Given the description of an element on the screen output the (x, y) to click on. 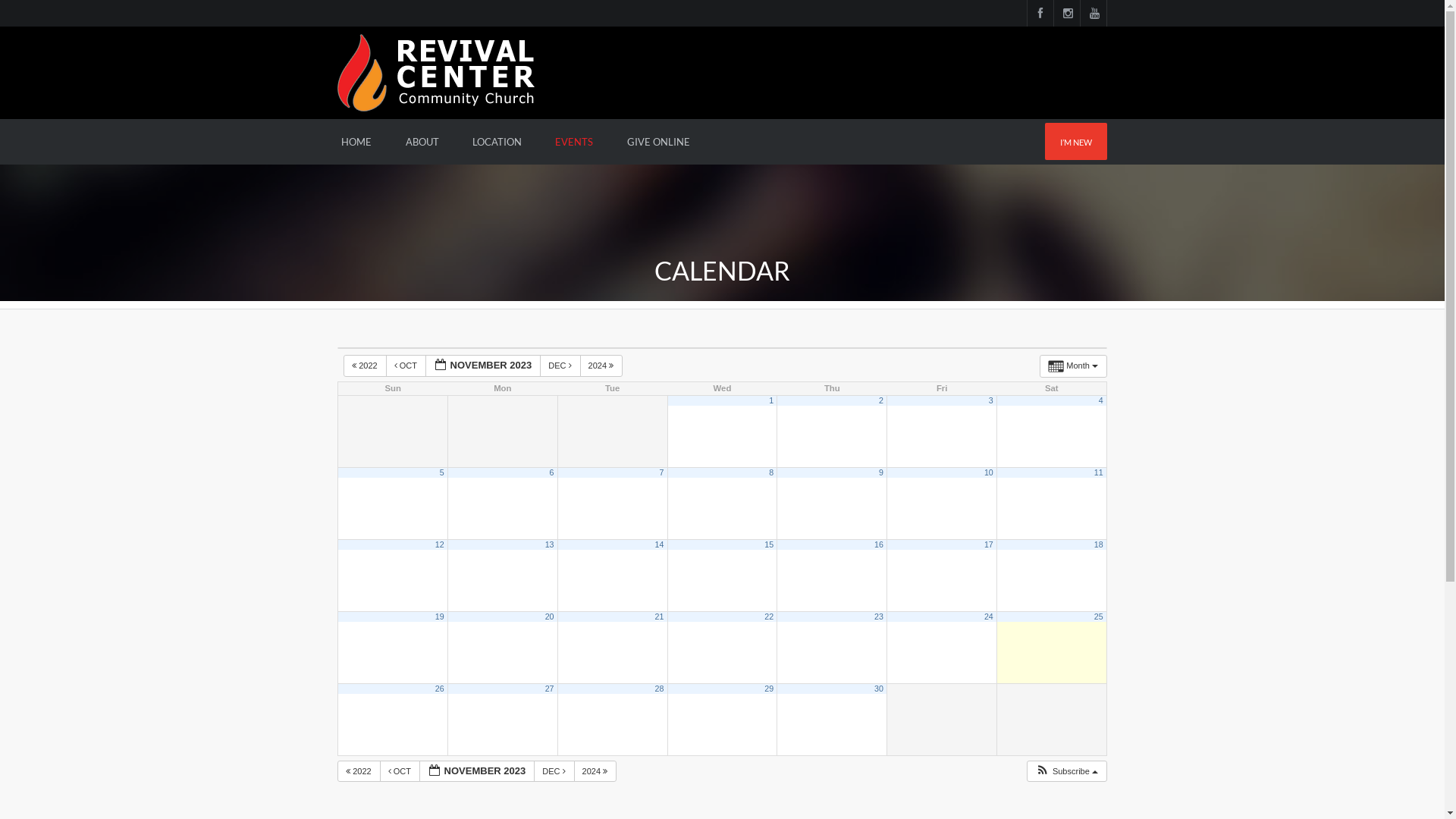
25 Element type: text (1098, 616)
9 Element type: text (880, 471)
OCT Element type: text (405, 365)
23 Element type: text (878, 616)
3 Element type: text (990, 399)
2022 Element type: text (358, 771)
18 Element type: text (1098, 544)
5 Element type: text (441, 471)
8 Element type: text (770, 471)
16 Element type: text (878, 544)
11 Element type: text (1098, 471)
Month Element type: text (1073, 365)
DEC Element type: text (553, 771)
OCT Element type: text (399, 771)
2024 Element type: text (601, 365)
28 Element type: text (658, 688)
DEC Element type: text (559, 365)
LOCATION Element type: text (496, 141)
2 Element type: text (880, 399)
4 Element type: text (1100, 399)
7 Element type: text (660, 471)
10 Element type: text (988, 471)
17 Element type: text (988, 544)
NOVEMBER 2023 Element type: text (483, 365)
1 Element type: text (770, 399)
13 Element type: text (549, 544)
14 Element type: text (658, 544)
15 Element type: text (768, 544)
30 Element type: text (878, 688)
12 Element type: text (439, 544)
EVENTS Element type: text (573, 141)
26 Element type: text (439, 688)
19 Element type: text (439, 616)
29 Element type: text (768, 688)
27 Element type: text (549, 688)
2022 Element type: text (364, 365)
24 Element type: text (988, 616)
HOME Element type: text (356, 141)
20 Element type: text (549, 616)
21 Element type: text (658, 616)
NOVEMBER 2023 Element type: text (477, 771)
GIVE ONLINE Element type: text (658, 141)
22 Element type: text (768, 616)
Revival Center Community Church Element type: hover (435, 71)
ABOUT Element type: text (422, 141)
6 Element type: text (551, 471)
2024 Element type: text (595, 771)
